Given the description of an element on the screen output the (x, y) to click on. 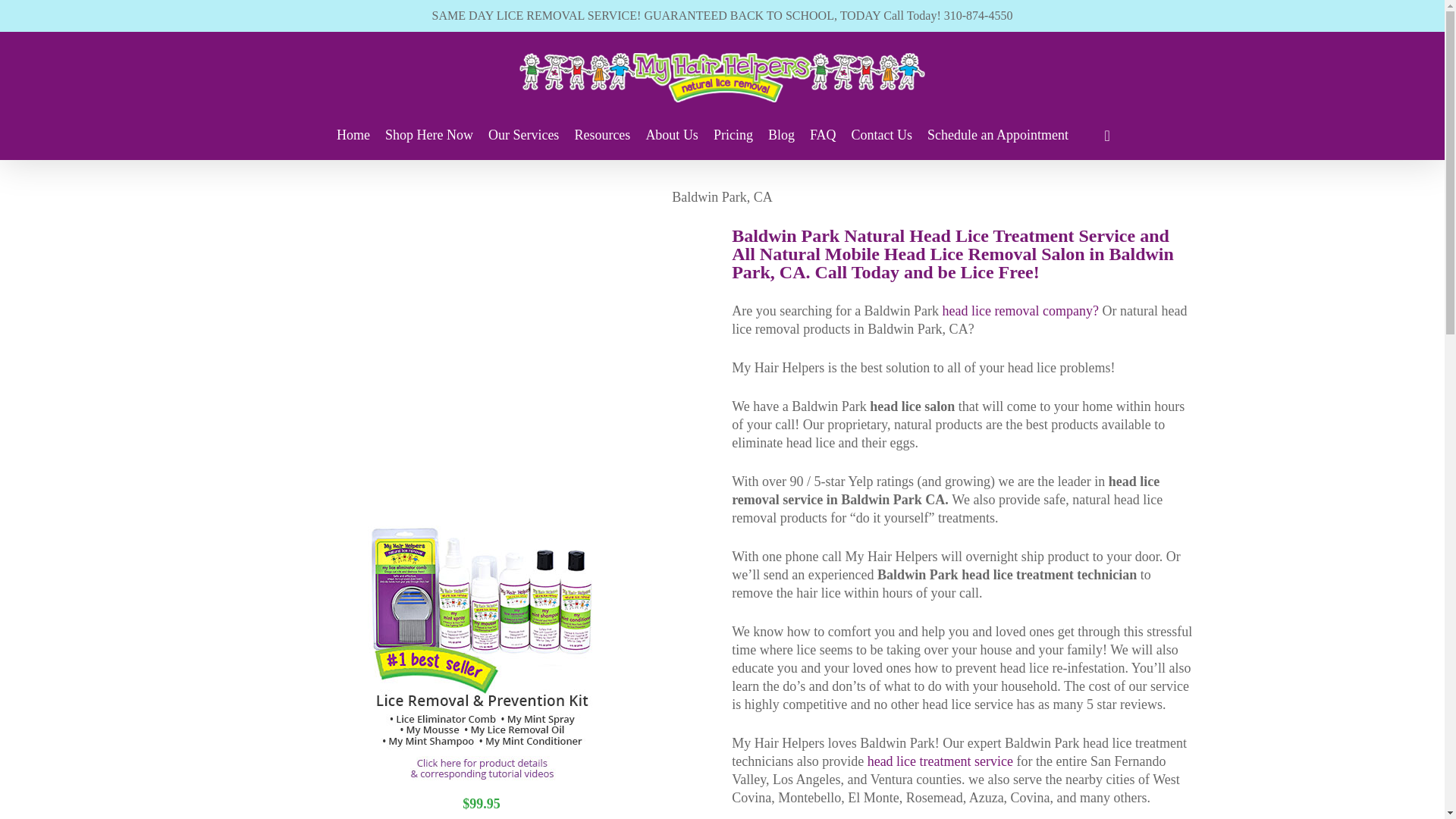
Shop Here Now (429, 135)
head lice removal company? (1020, 310)
Home (352, 135)
Our Services (523, 135)
head lice treatment service (940, 761)
FAQ (822, 135)
Schedule an Appointment (997, 135)
Blog (781, 135)
Pricing (732, 135)
